Given the description of an element on the screen output the (x, y) to click on. 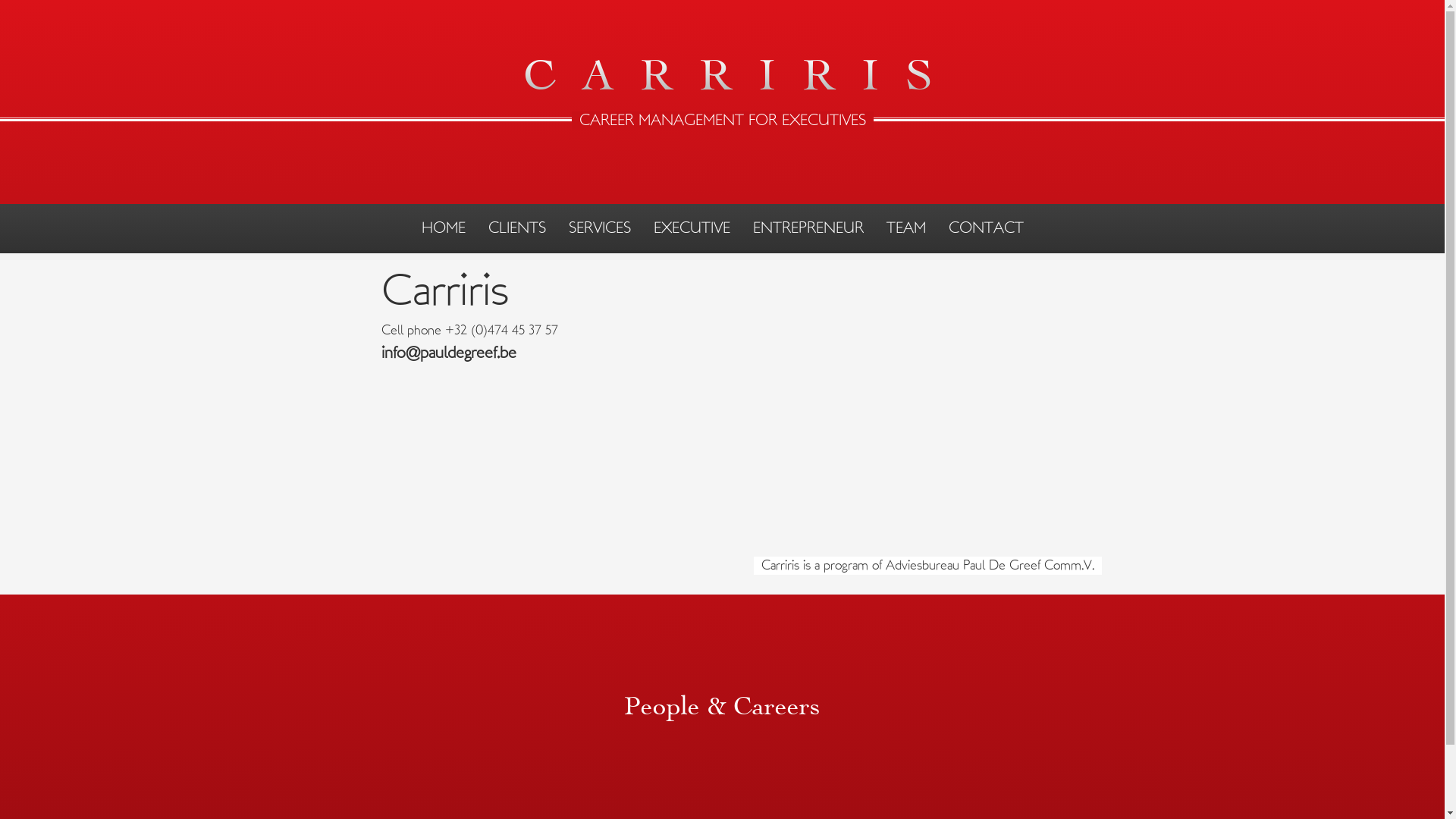
TEAM Element type: text (905, 227)
CLIENTS Element type: text (517, 227)
ENTREPRENEUR Element type: text (807, 227)
SERVICES Element type: text (599, 227)
EXECUTIVE Element type: text (691, 227)
info@pauldegreef.be Element type: text (447, 352)
HOME Element type: text (443, 227)
Jump to navigation Element type: text (722, 2)
CONTACT Element type: text (984, 227)
